Given the description of an element on the screen output the (x, y) to click on. 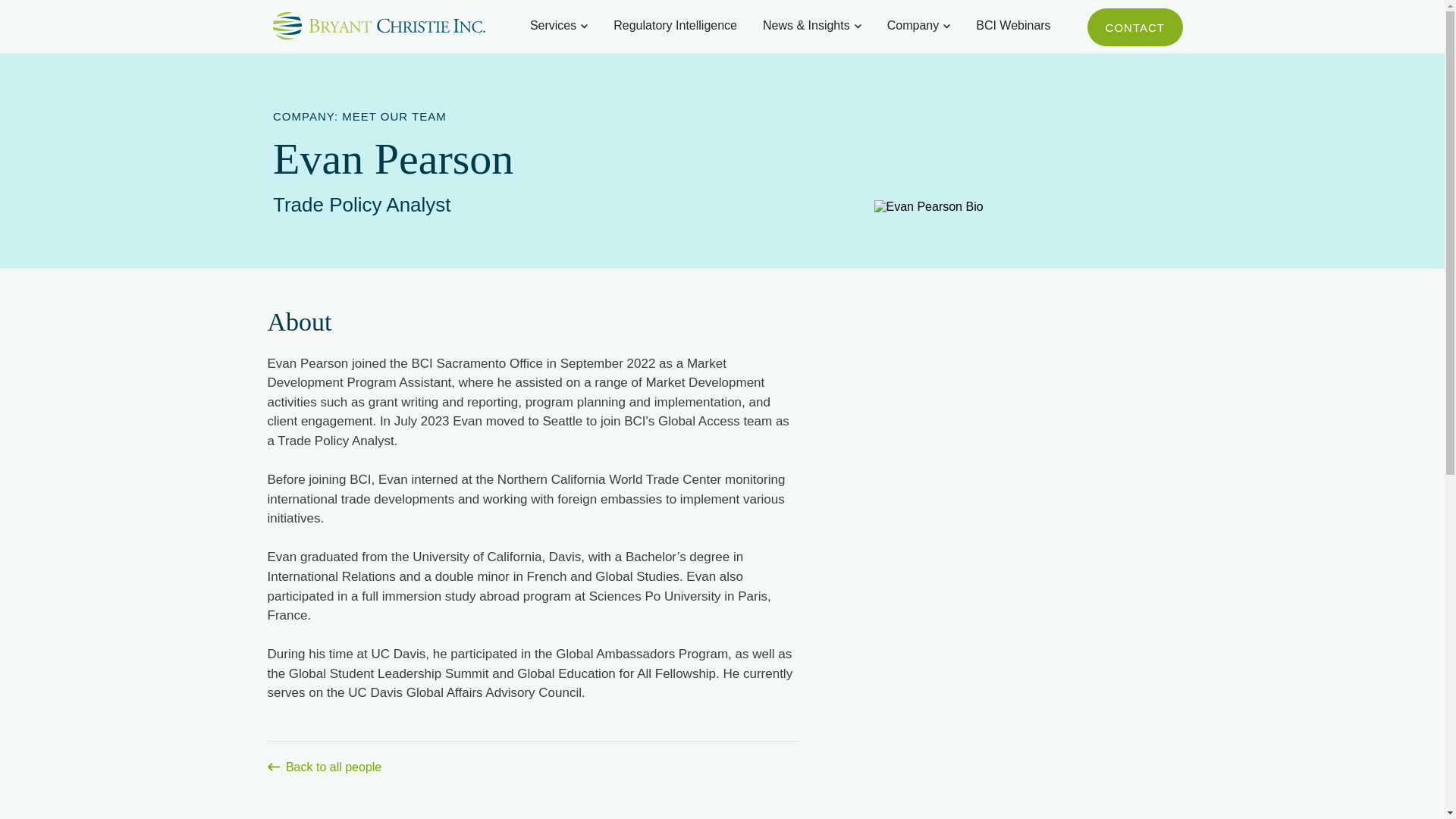
MEET OUR TEAM (393, 115)
Services (552, 25)
BCI Webinars (1012, 25)
Company (912, 25)
Regulatory Intelligence (674, 25)
Back to all people (531, 757)
CONTACT (1134, 26)
